Given the description of an element on the screen output the (x, y) to click on. 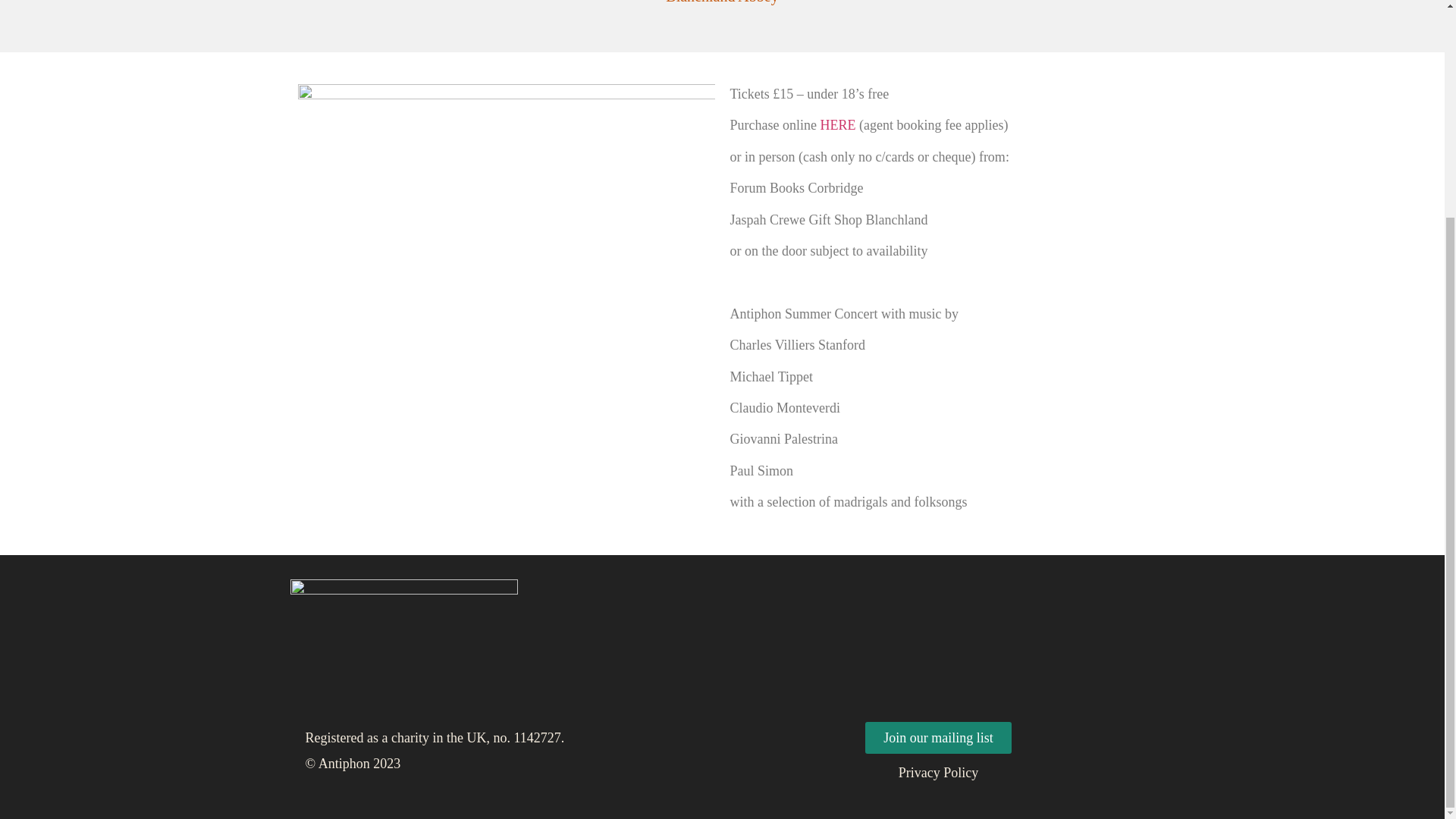
Privacy Policy (938, 772)
Join our mailing list (937, 737)
HERE (837, 124)
